Given the description of an element on the screen output the (x, y) to click on. 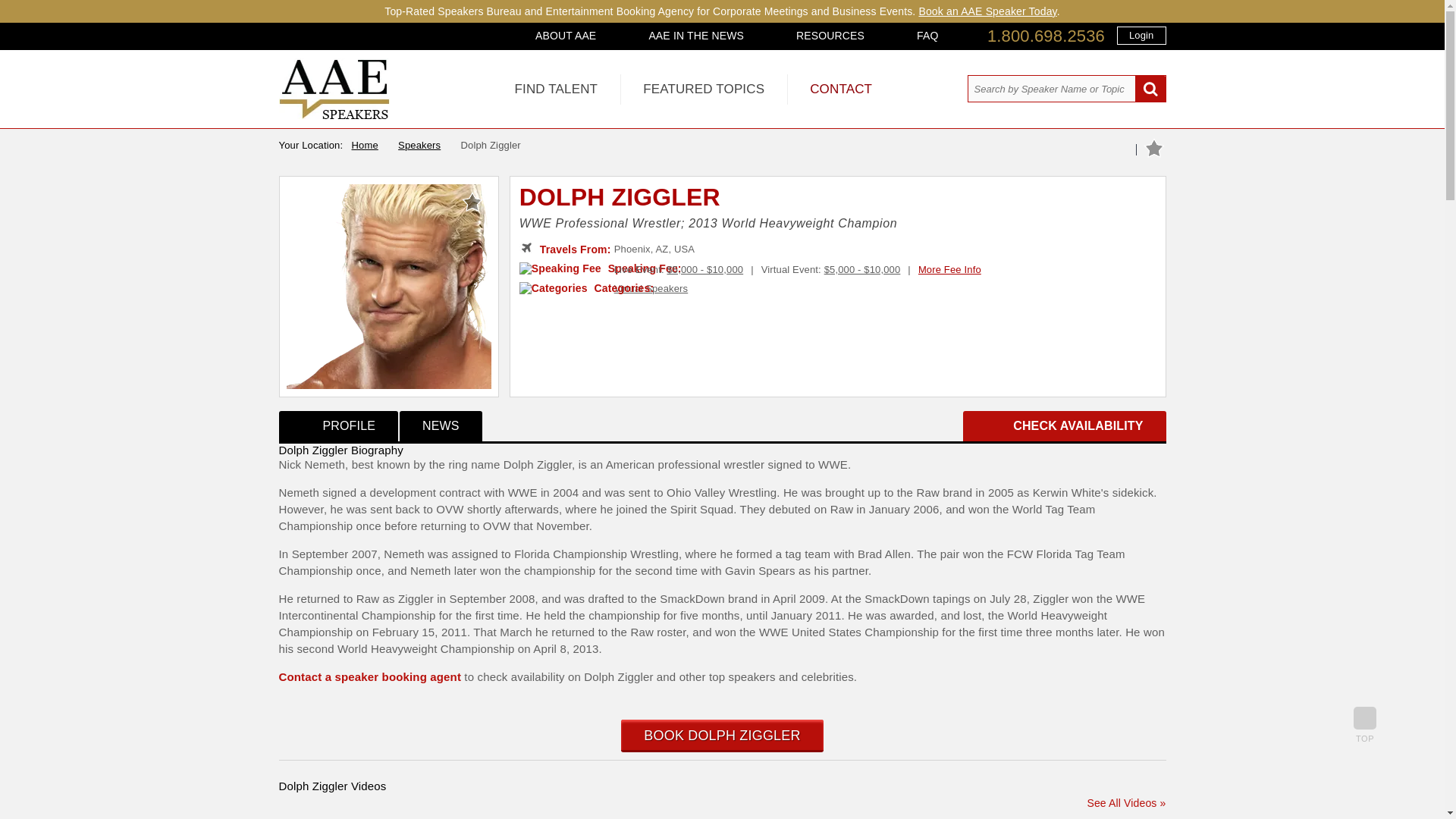
ABOUT AAE (565, 34)
Book an AAE Speaker Today (987, 10)
FAQ (927, 34)
1.800.698.2536 (1046, 35)
All American Speakers Bureau and Celebrity Booking Agency (334, 115)
Search (1150, 89)
AAE IN THE NEWS (695, 34)
RESOURCES (829, 34)
Login (1141, 35)
